Given the description of an element on the screen output the (x, y) to click on. 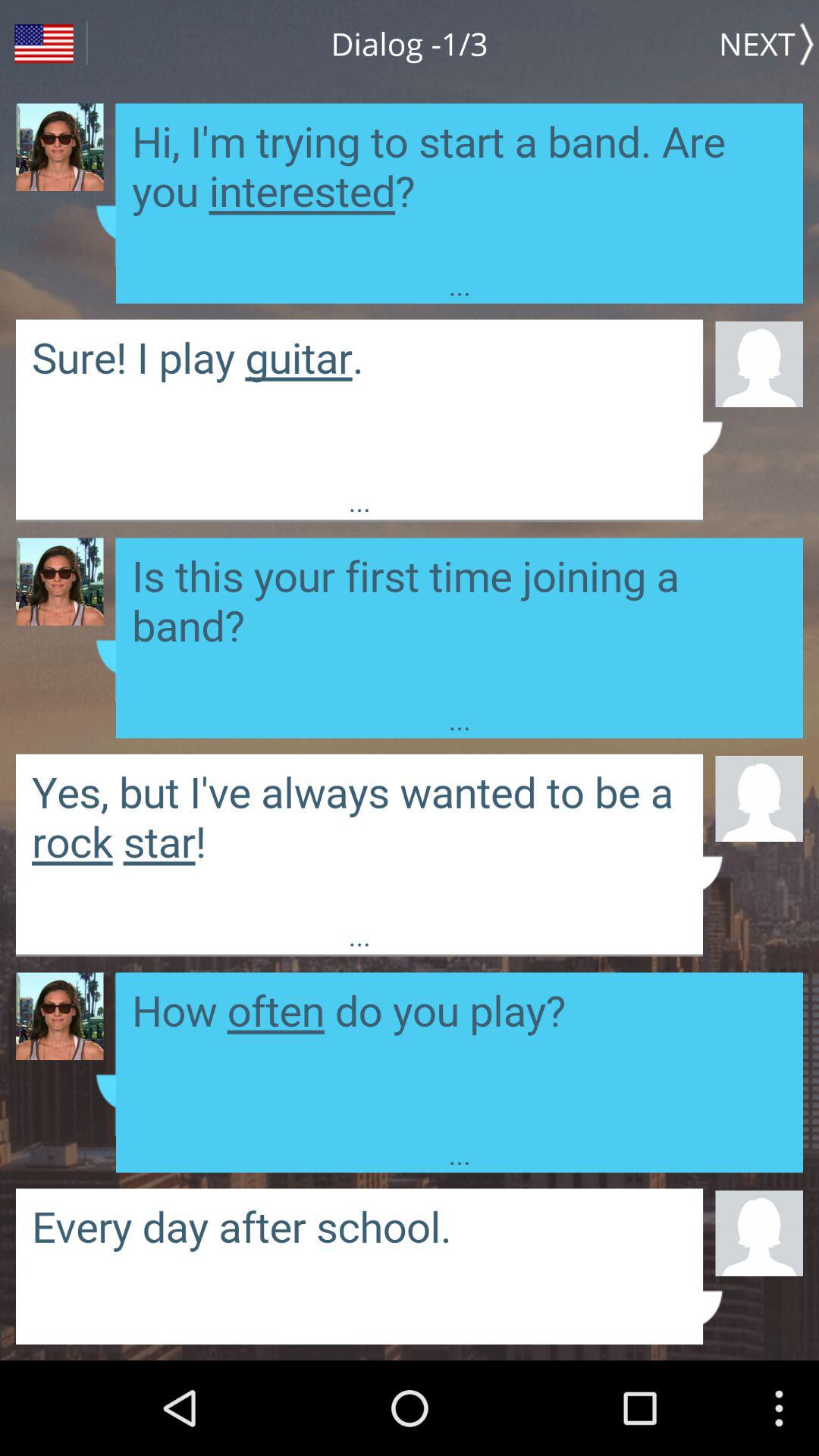
english language (43, 43)
